Given the description of an element on the screen output the (x, y) to click on. 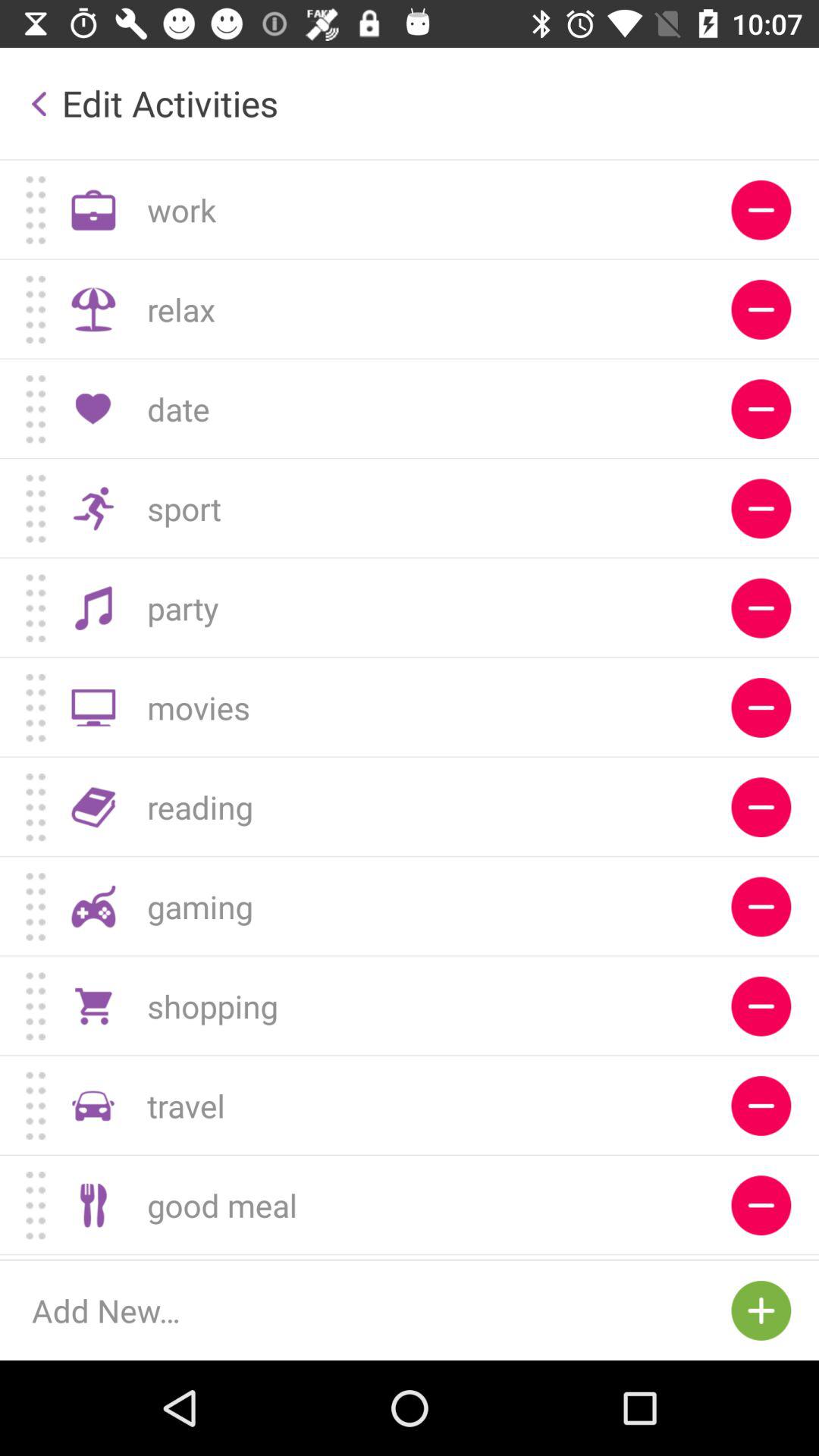
remove relax (761, 309)
